Given the description of an element on the screen output the (x, y) to click on. 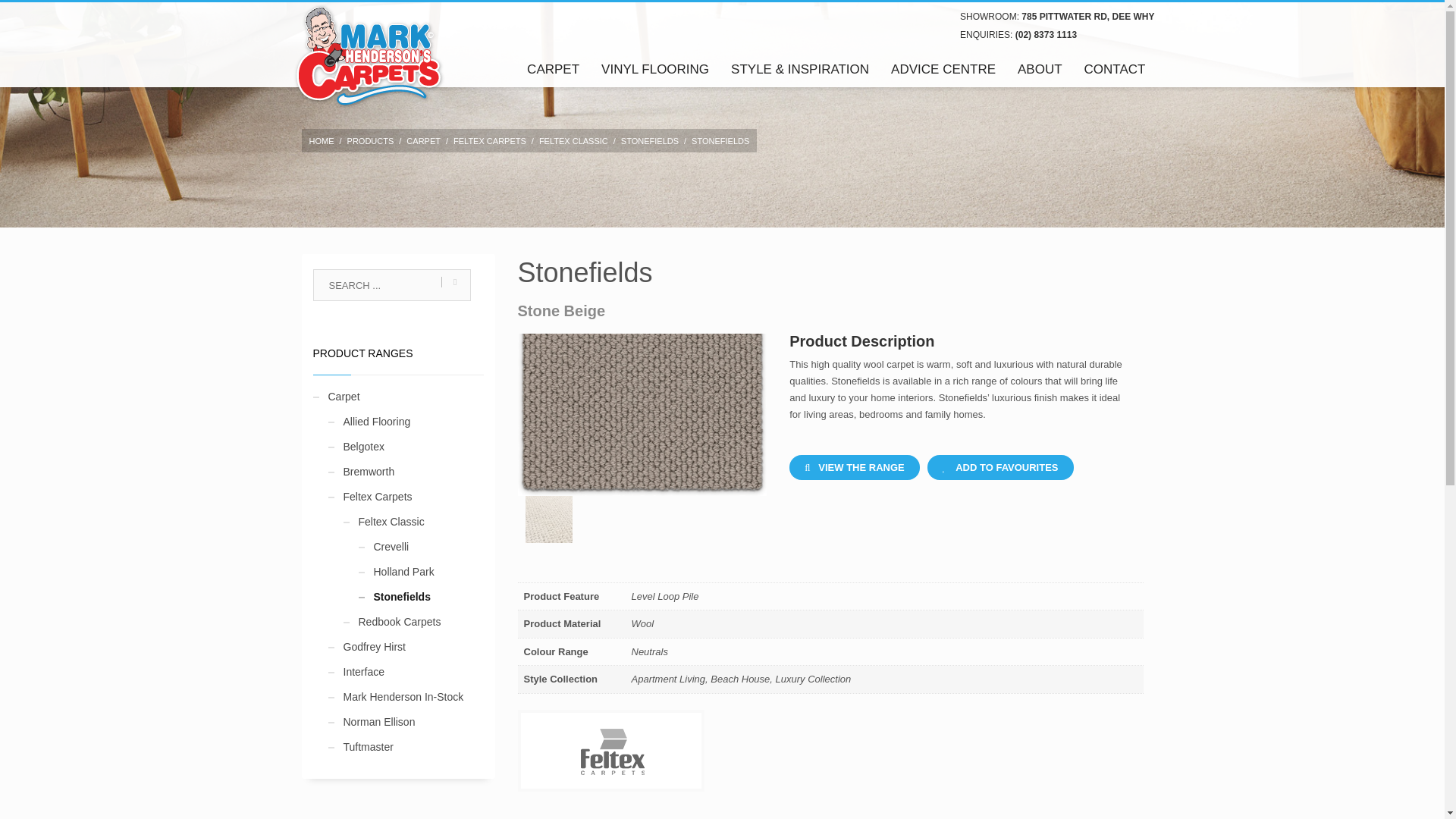
Belgotex (355, 446)
Mark Henderson Carpets (367, 55)
HOME (321, 140)
Stonefields - Hero Image (548, 519)
Bremworth (360, 471)
ADD TO FAVOURITES (1000, 467)
Stonefields -Stone Beige (641, 371)
FELTEX CARPETS (488, 140)
CARPET (423, 140)
ADVICE CENTRE (943, 68)
   VIEW THE RANGE (853, 467)
ABOUT (1040, 68)
FELTEX CLASSIC (573, 140)
PRODUCTS (370, 140)
Carpet (336, 396)
